Given the description of an element on the screen output the (x, y) to click on. 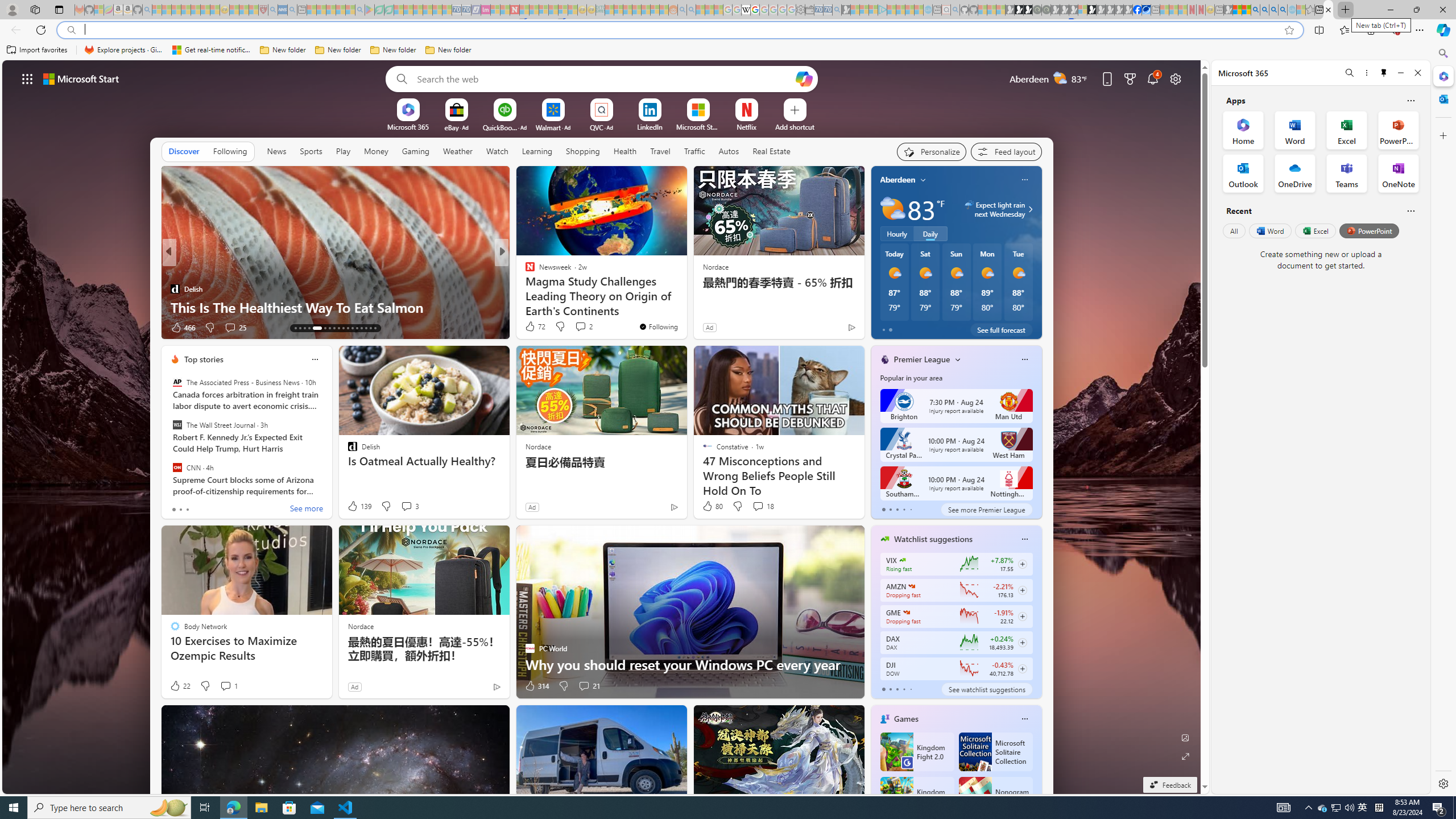
Discover (183, 151)
Outlook Office App (1243, 172)
AutomationID: tab-26 (361, 328)
MSNBC - MSN - Sleeping (608, 9)
Nonogram FRVR (995, 796)
Following (229, 151)
Cheap Hotels - Save70.com - Sleeping (466, 9)
Flannels or FlipFlops (524, 288)
Pets - MSN - Sleeping (340, 9)
